Given the description of an element on the screen output the (x, y) to click on. 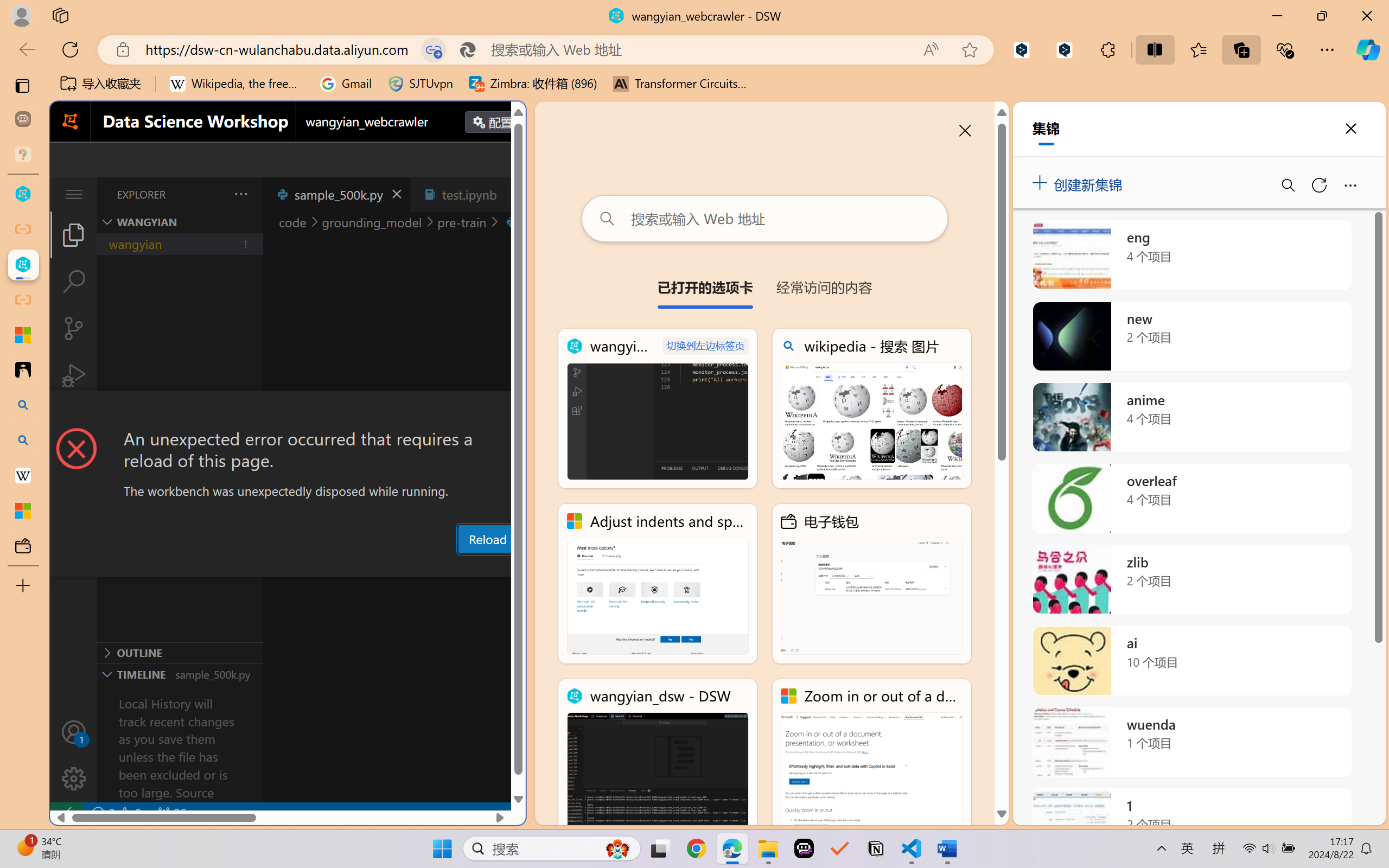
Tab actions (512, 194)
test.ipynb (468, 194)
sample_500k.py (336, 194)
remote (66, 812)
Manage (73, 755)
